Given the description of an element on the screen output the (x, y) to click on. 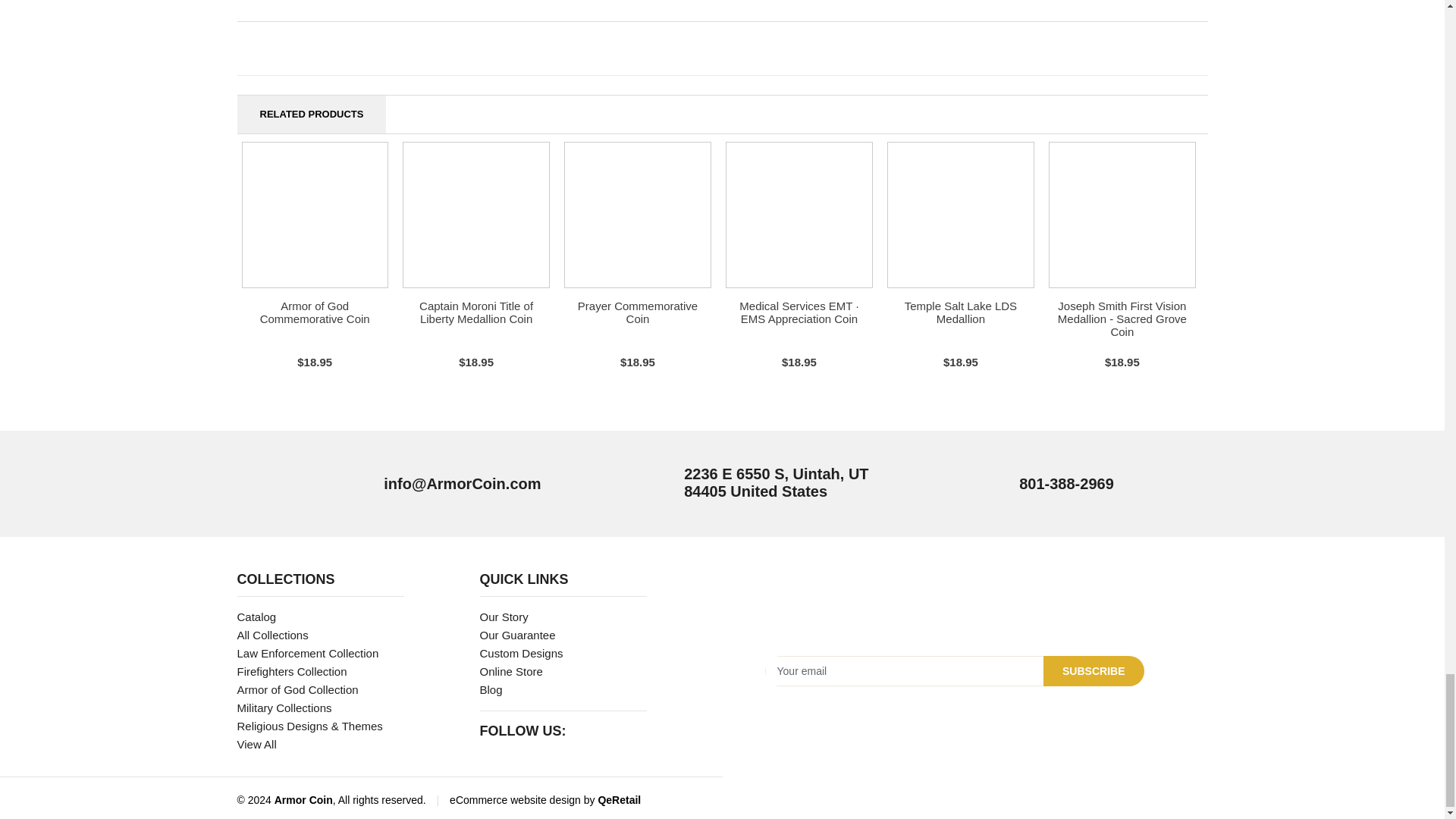
TOP PICK (315, 214)
Prayer Commemorative Coin (637, 312)
Armor of God Commemorative Coin (314, 312)
Captain Moroni Title of Liberty Medallion Coin (475, 312)
subscribe (1092, 671)
TOP PICK (637, 214)
